Given the description of an element on the screen output the (x, y) to click on. 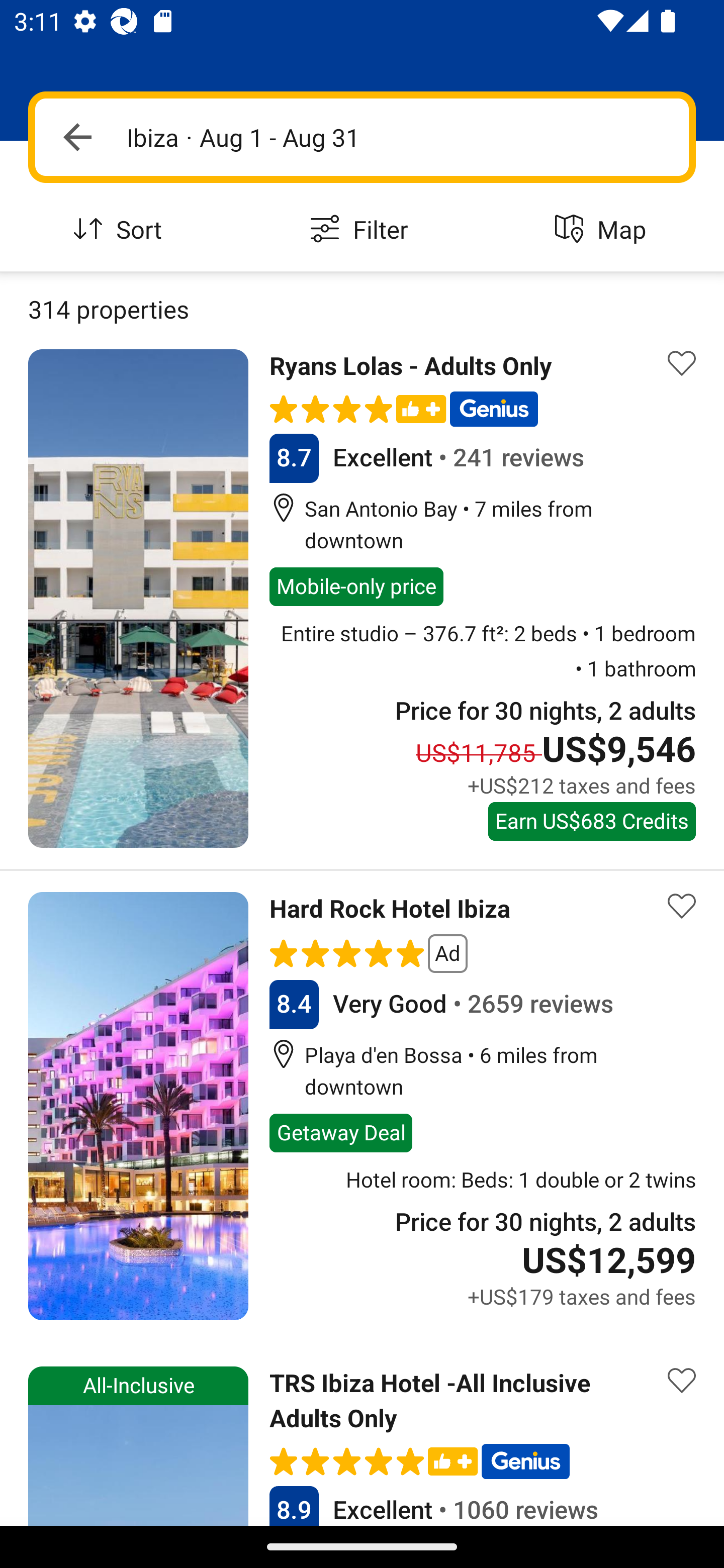
Navigate up Ibiza · Aug 1 - Aug 31 (362, 136)
Navigate up (77, 136)
Sort (120, 230)
Filter (361, 230)
Map (603, 230)
Save property to list (681, 363)
Save property to list (681, 905)
Save property to list (681, 1380)
